Given the description of an element on the screen output the (x, y) to click on. 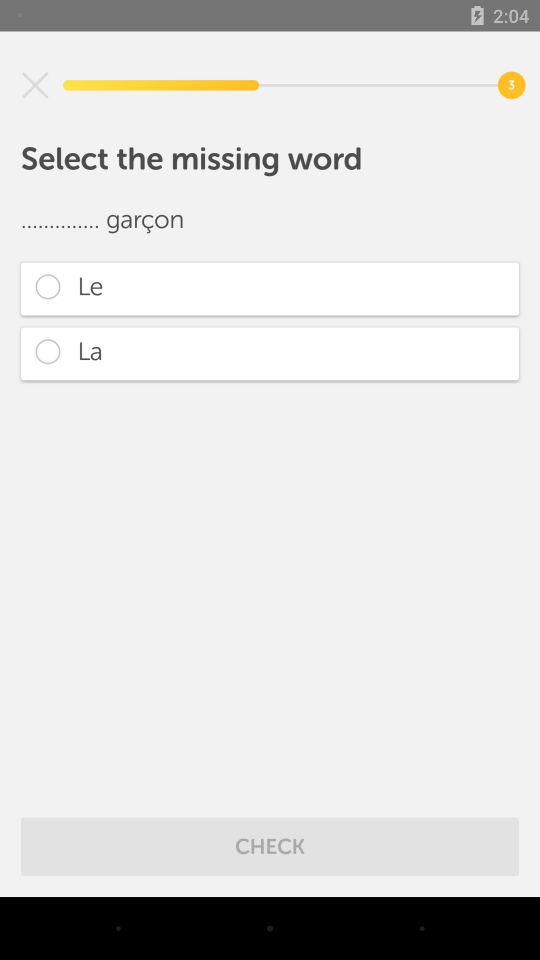
select the item below le item (270, 353)
